Given the description of an element on the screen output the (x, y) to click on. 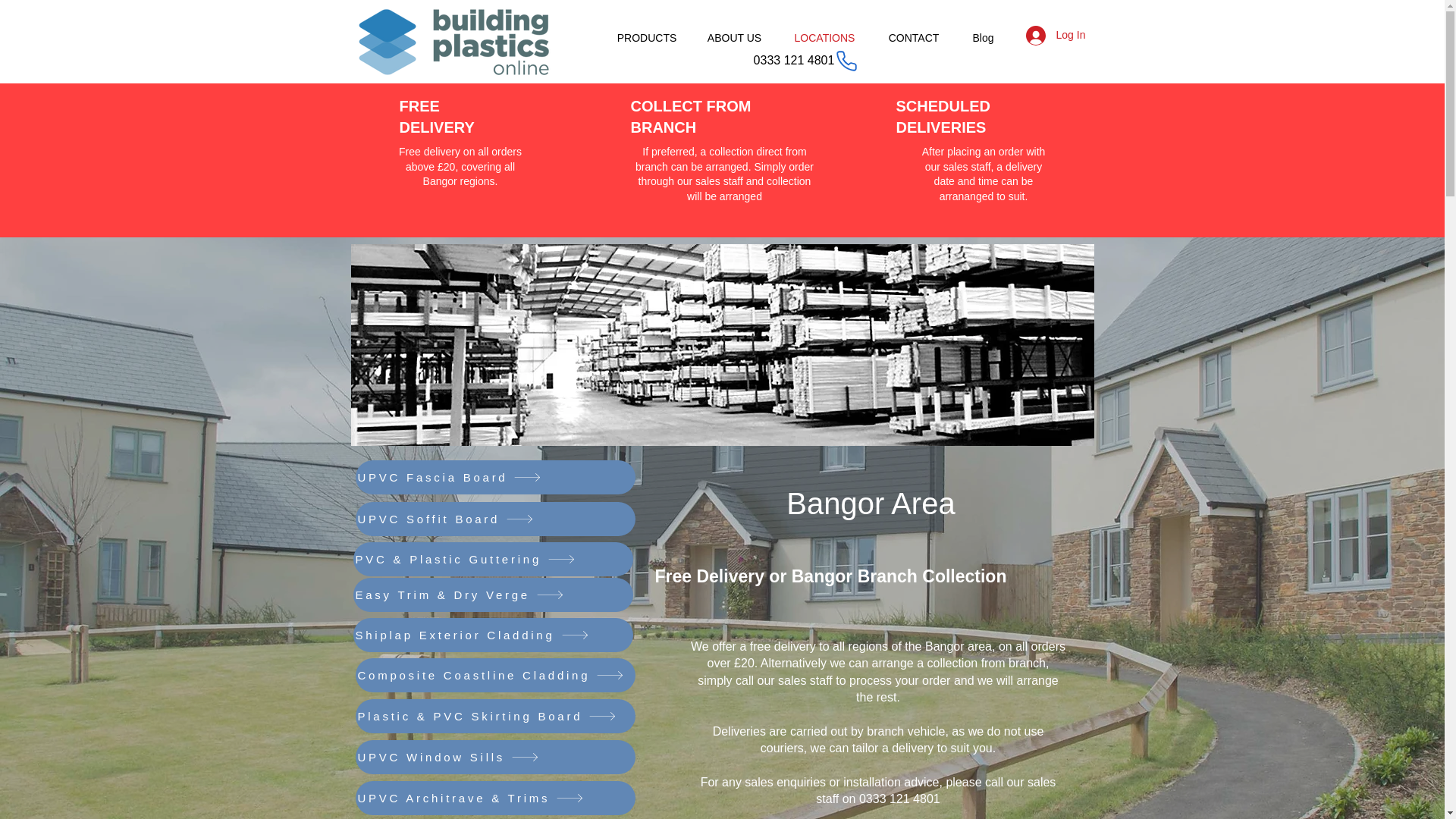
ABOUT US (734, 37)
LOCATIONS (824, 37)
PRODUCTS (646, 37)
